Given the description of an element on the screen output the (x, y) to click on. 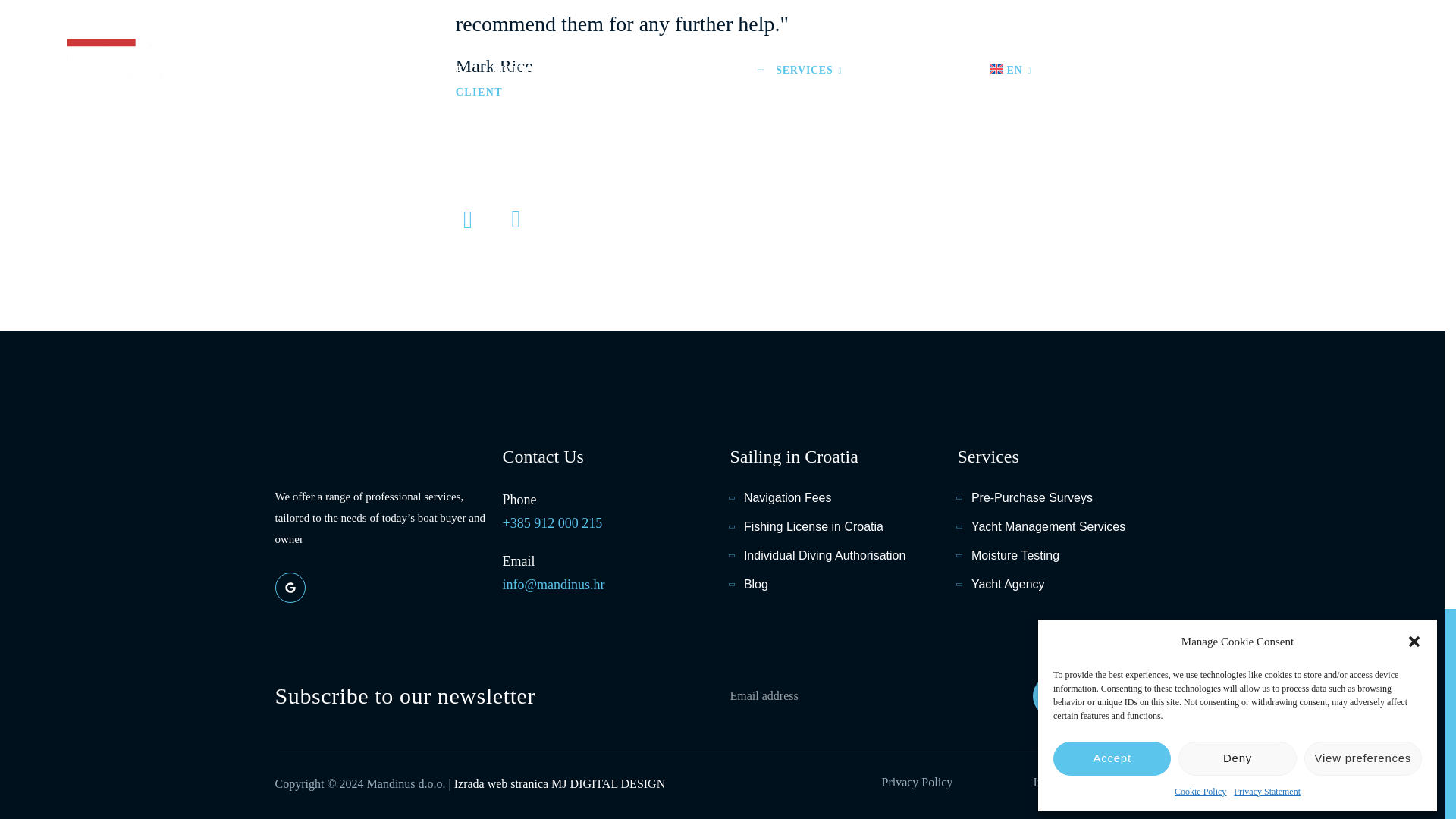
Google (289, 587)
